Given the description of an element on the screen output the (x, y) to click on. 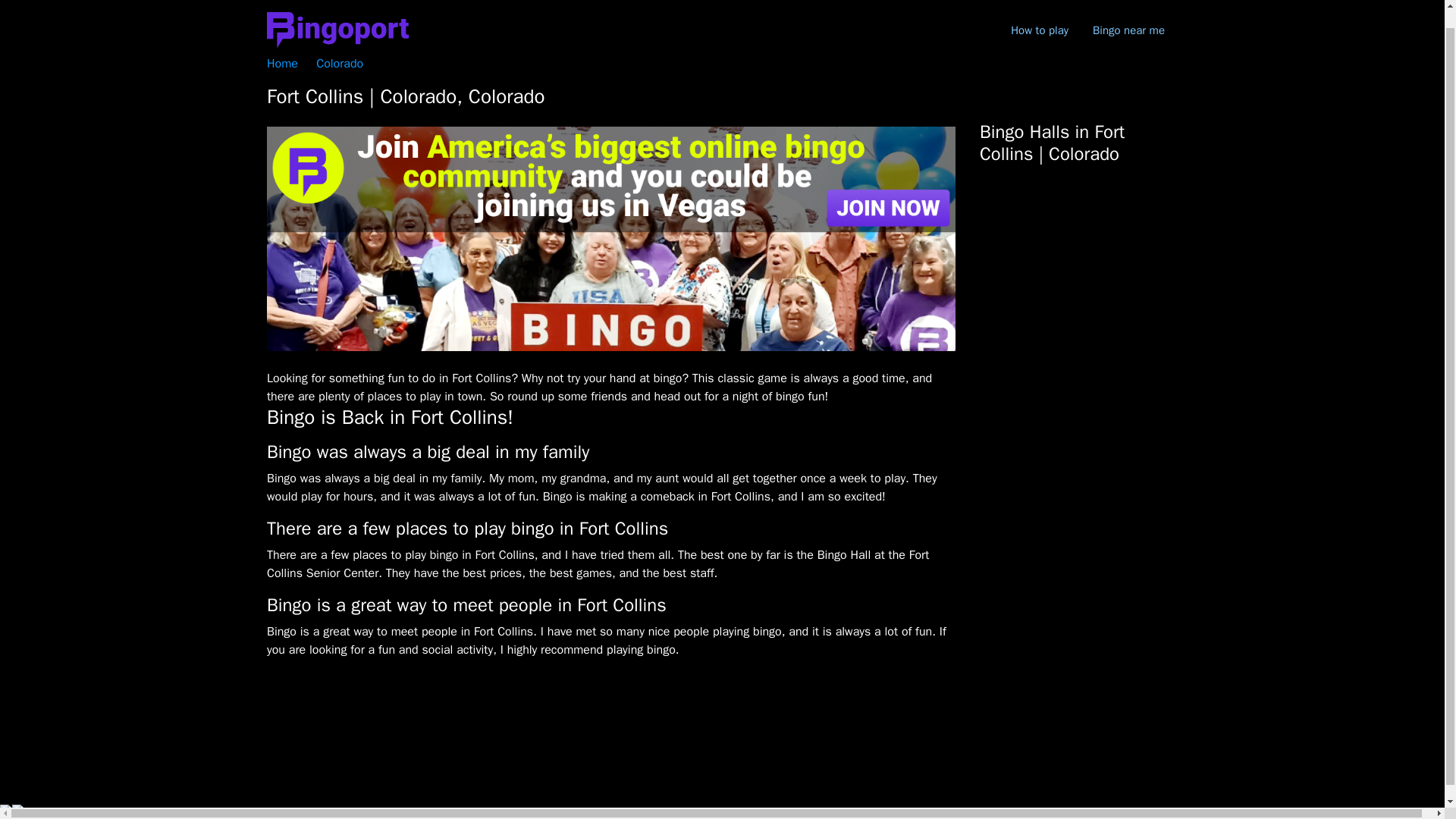
Home (282, 63)
Colorado (338, 63)
How to play (1039, 13)
Bingo near me (1128, 13)
